Given the description of an element on the screen output the (x, y) to click on. 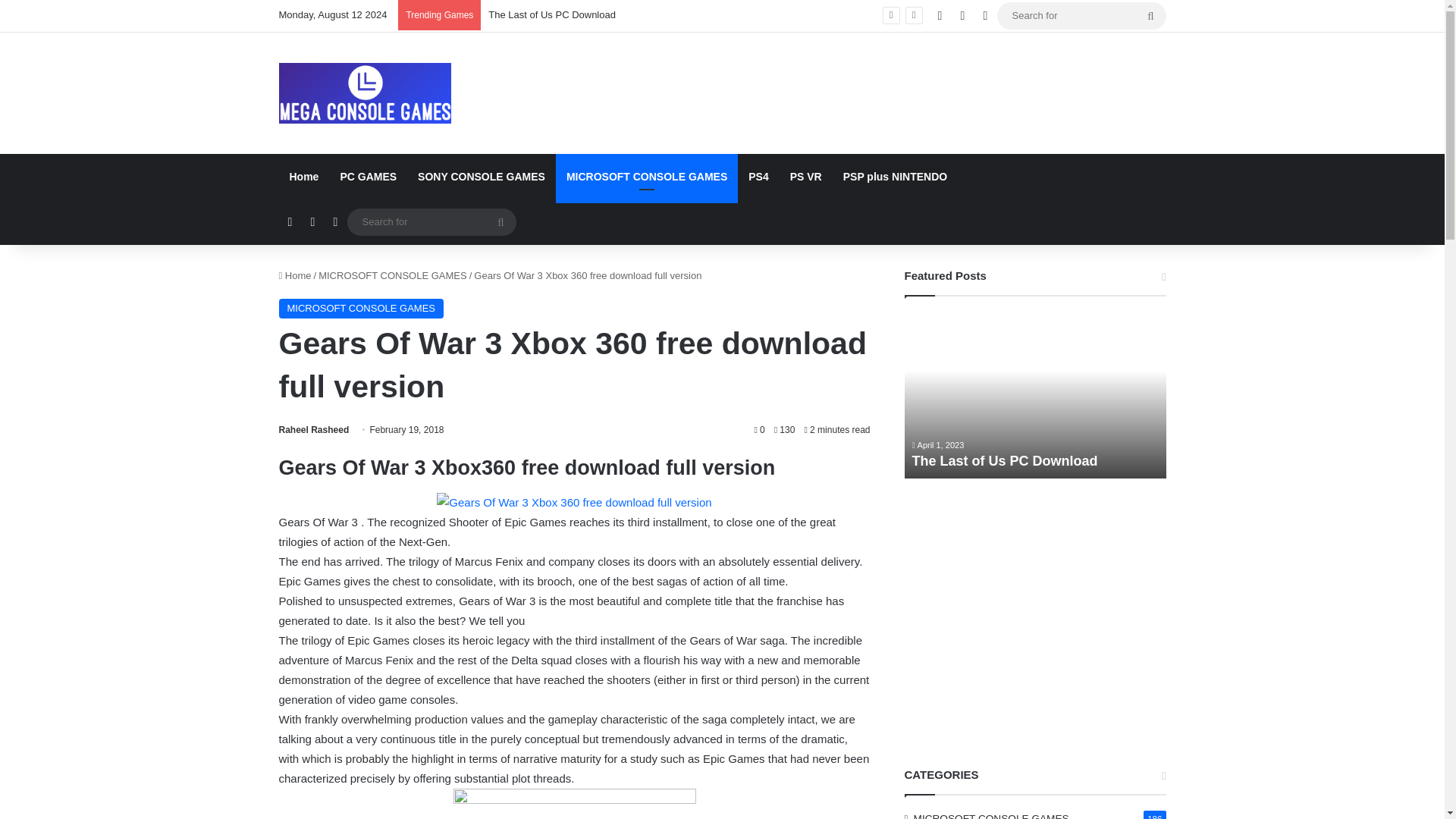
SONY CONSOLE GAMES (481, 176)
Search for (1080, 15)
Gears Of War 3 Xbox 360 free download full version (573, 502)
PS4 (758, 176)
PSP plus NINTENDO (895, 176)
Mega Console Games (365, 93)
Search for (499, 221)
MICROSOFT CONSOLE GAMES (392, 275)
Search for (431, 221)
PS VR (805, 176)
